Given the description of an element on the screen output the (x, y) to click on. 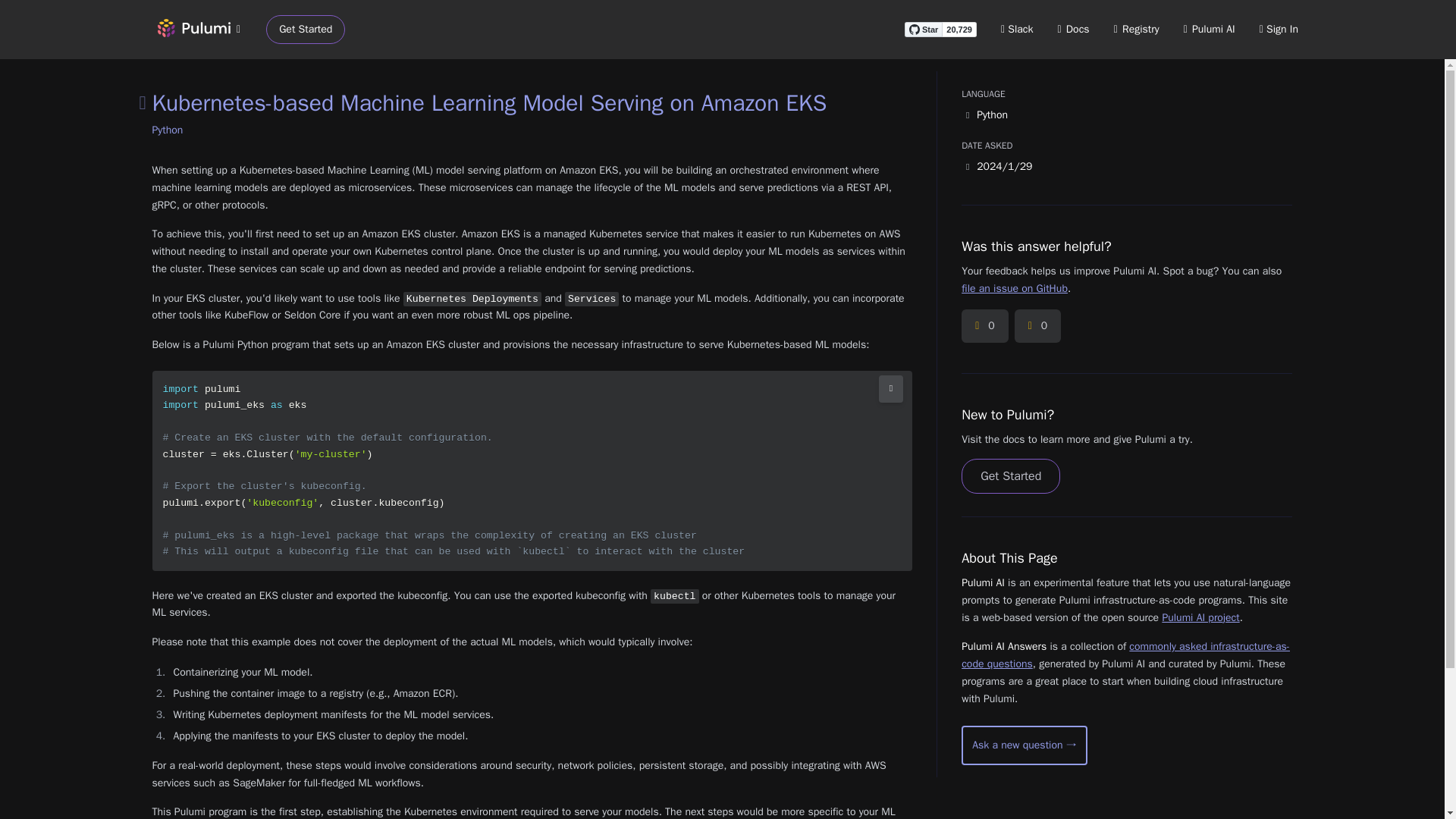
Registry (1135, 29)
0 (984, 326)
Pulumi AI (1208, 29)
Downvote this answer (1037, 326)
20,729 (959, 29)
Upvote this answer (984, 326)
 Star (923, 29)
Get Started (305, 29)
Start a new conversation with Pulumi AI (1023, 744)
Sign In (1278, 29)
